Given the description of an element on the screen output the (x, y) to click on. 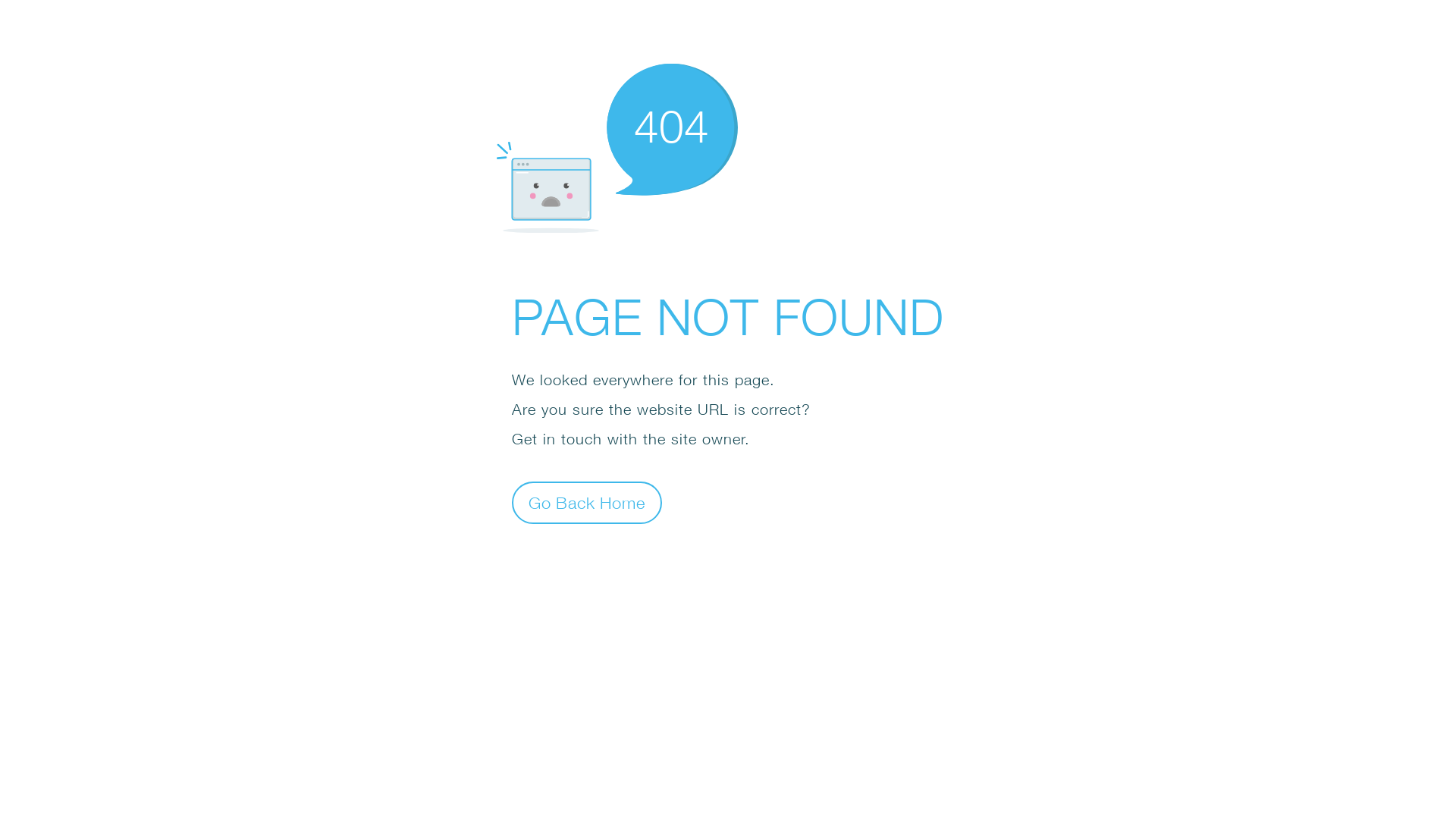
Go Back Home Element type: text (586, 502)
